Given the description of an element on the screen output the (x, y) to click on. 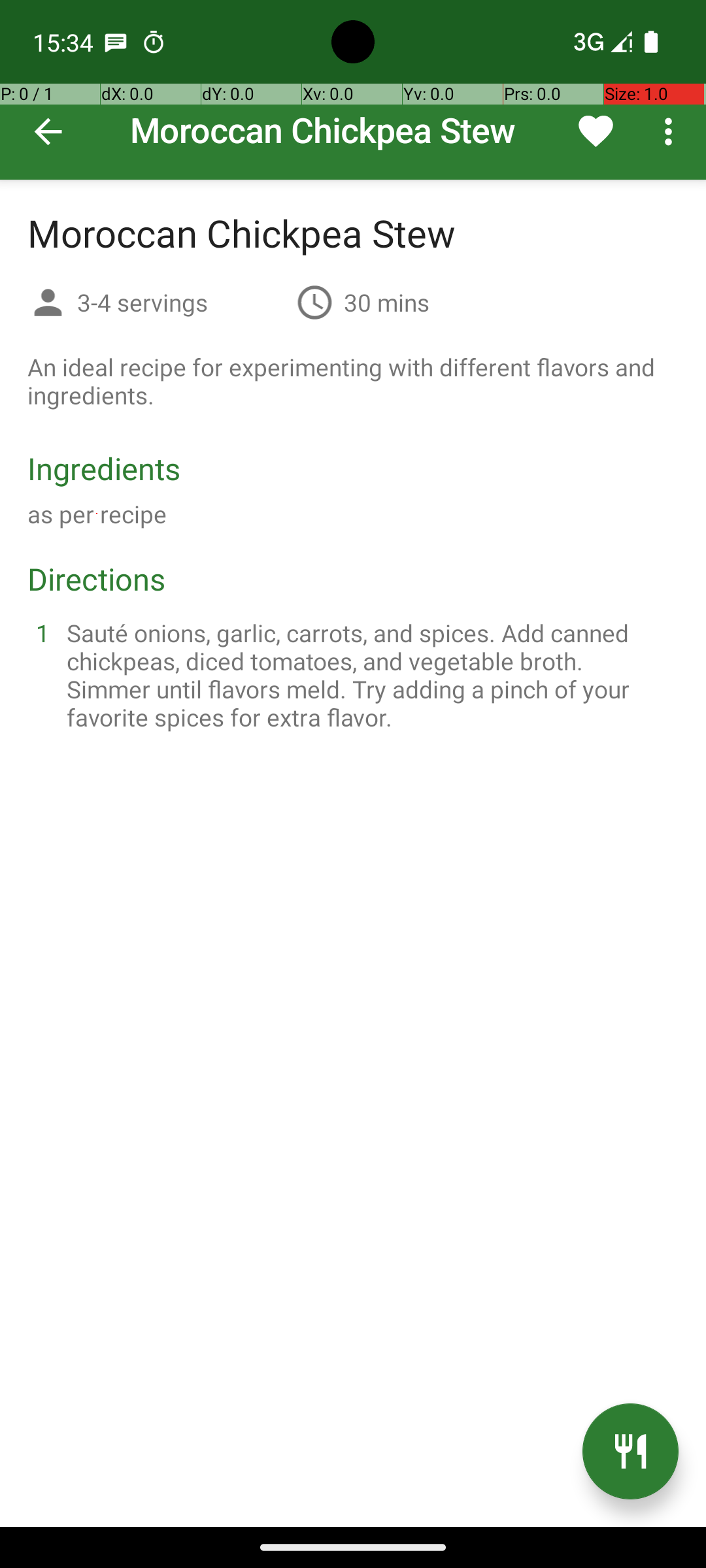
Sauté onions, garlic, carrots, and spices. Add canned chickpeas, diced tomatoes, and vegetable broth. Simmer until flavors meld. Try adding a pinch of your favorite spices for extra flavor. Element type: android.widget.TextView (368, 674)
